Given the description of an element on the screen output the (x, y) to click on. 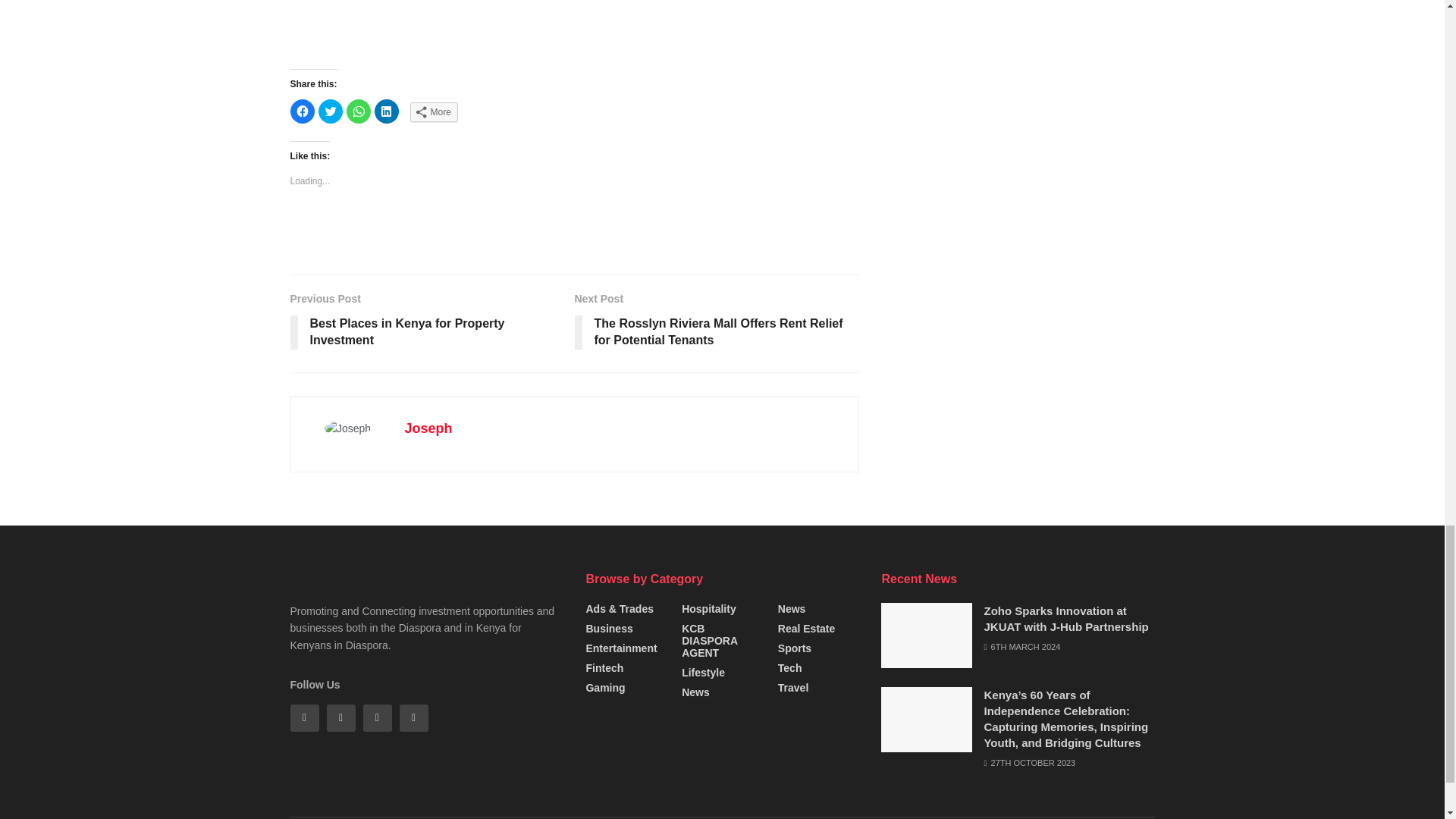
KCB DIASPORA AGENT (721, 640)
Click to share on LinkedIn (386, 111)
Click to share on Twitter (330, 111)
Click to share on WhatsApp (357, 111)
Click to share on Facebook (301, 111)
